Given the description of an element on the screen output the (x, y) to click on. 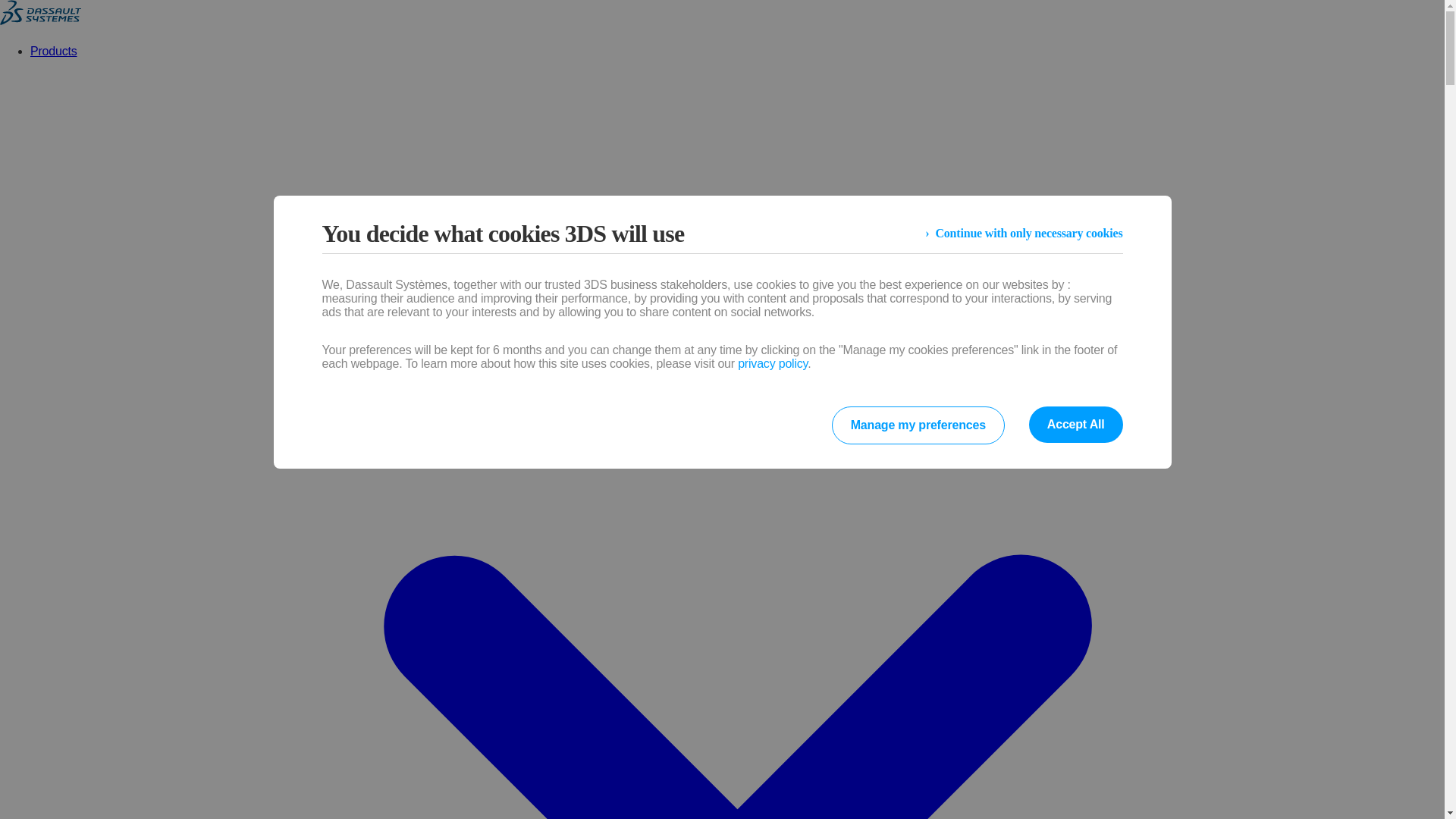
Continue with only necessary cookies (1023, 233)
Accept All (1075, 424)
Accept All (1075, 424)
privacy policy (773, 363)
Manage my preferences (917, 425)
Continue with only necessary cookies (1023, 233)
Manage my preferences (917, 425)
